Given the description of an element on the screen output the (x, y) to click on. 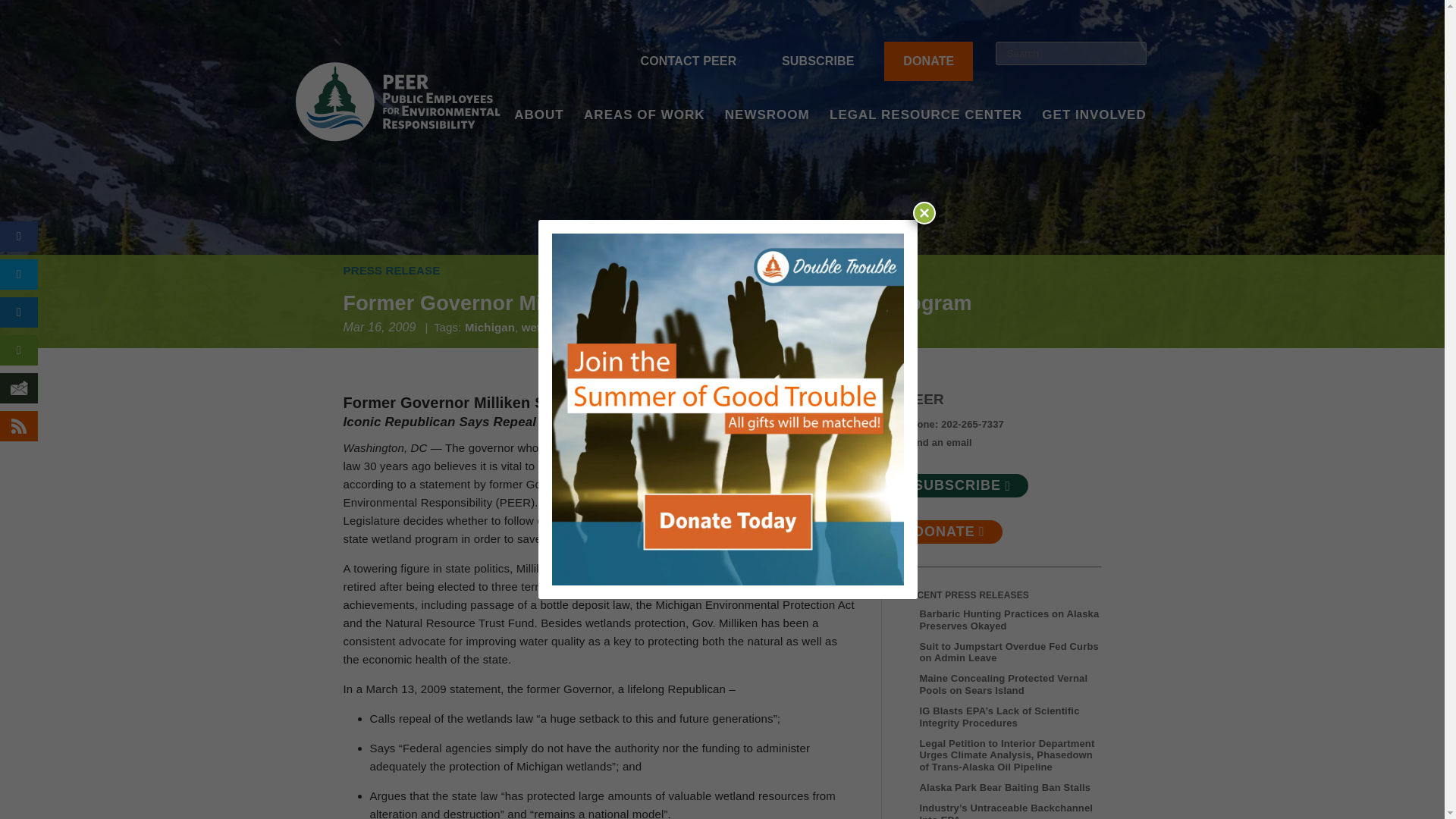
SUBSCRIBE (818, 60)
DONATE (928, 60)
AREAS OF WORK (643, 135)
ABOUT (538, 135)
CONTACT PEER (689, 60)
